Given the description of an element on the screen output the (x, y) to click on. 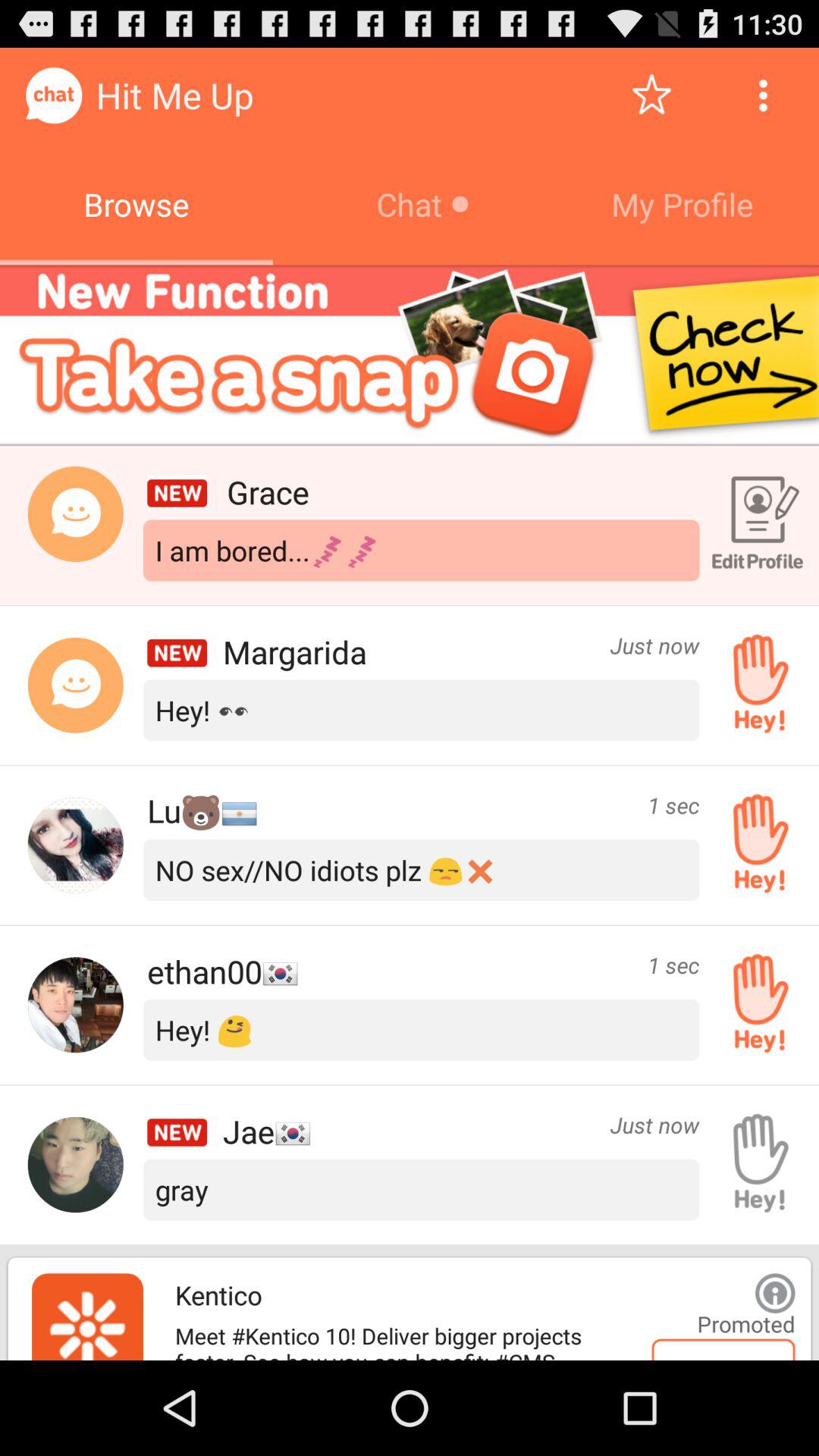
show info (775, 1293)
